Given the description of an element on the screen output the (x, y) to click on. 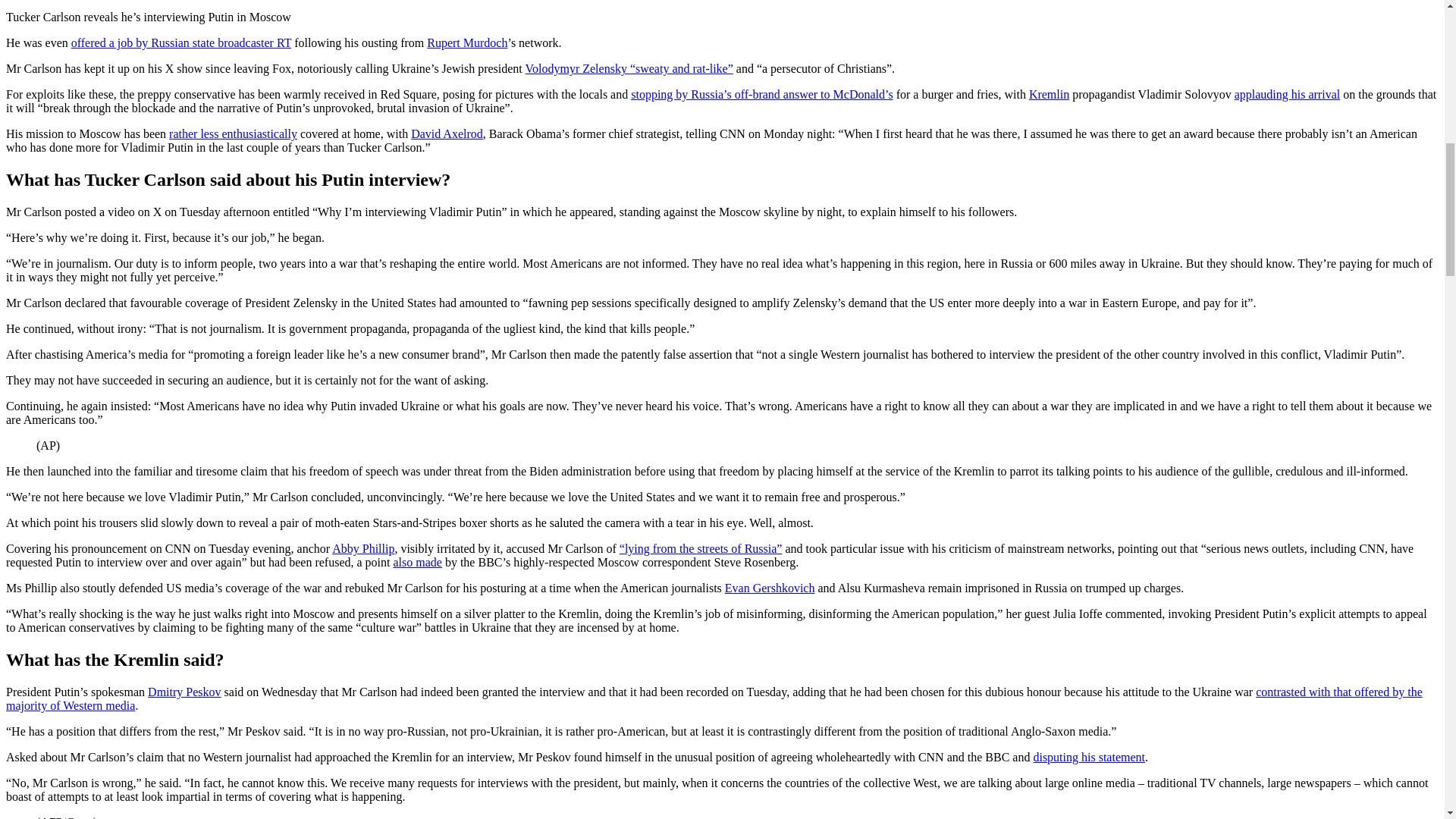
David Axelrod (446, 133)
offered a job by Russian state broadcaster RT (181, 42)
Volodymyr Zelensky (577, 68)
Abby Phillip (362, 548)
applauding his arrival (1287, 93)
rather less enthusiastically (232, 133)
Rupert Murdoch (466, 42)
Kremlin (1048, 93)
